Given the description of an element on the screen output the (x, y) to click on. 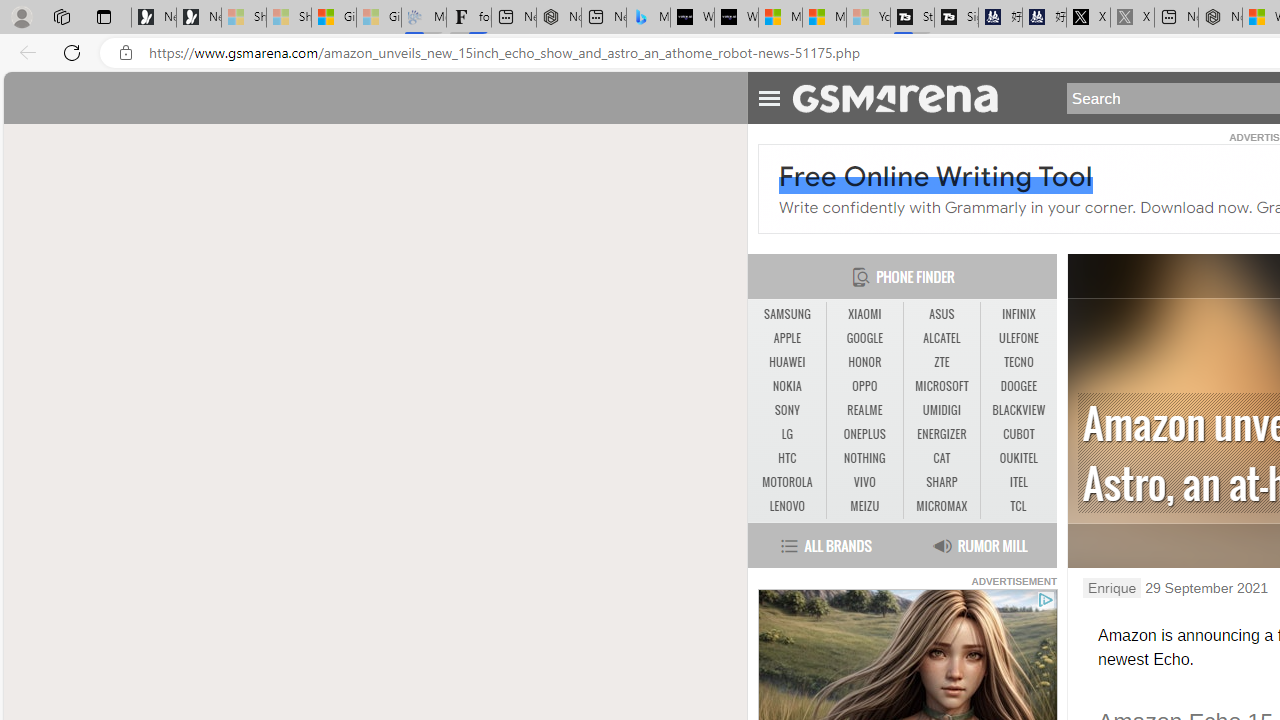
INFINIX (1018, 313)
ITEL (1018, 483)
SONY (786, 410)
INFINIX (1018, 314)
ENERGIZER (941, 434)
TECNO (1018, 362)
HONOR (864, 362)
ZTE (941, 362)
ONEPLUS (864, 434)
Toggle Navigation (768, 95)
OPPO (863, 385)
LG (786, 434)
ASUS (941, 314)
